Given the description of an element on the screen output the (x, y) to click on. 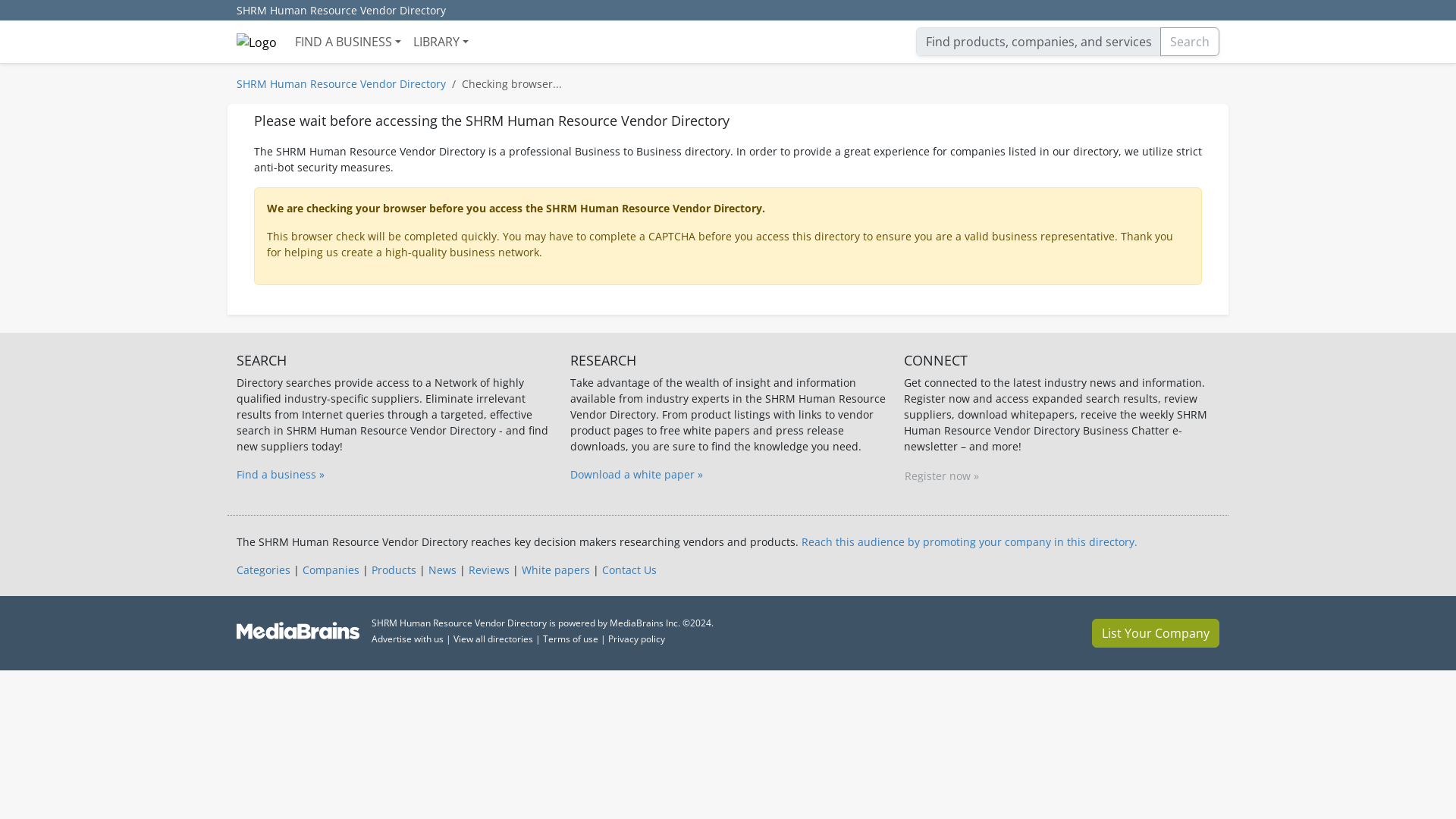
SHRM Human Resource Vendor Directory (340, 83)
Search (1190, 41)
LIBRARY (440, 41)
Companies (330, 569)
Privacy policy (636, 638)
Products (393, 569)
White papers (555, 569)
News (442, 569)
View all directories (492, 638)
